Given the description of an element on the screen output the (x, y) to click on. 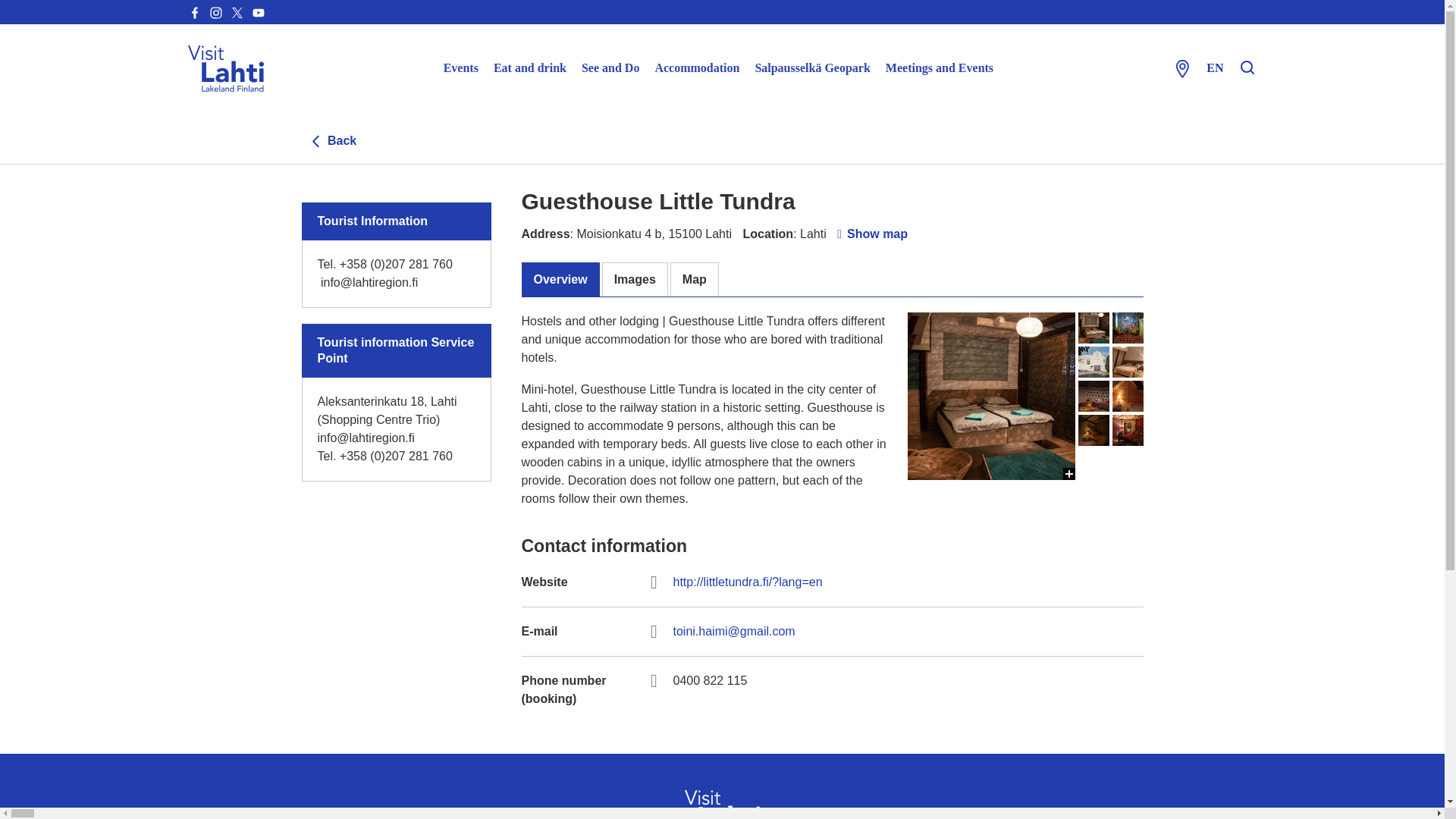
Guesthouse Little Tundra (990, 730)
Accommodation (696, 68)
Eat and drink (529, 68)
Guesthouse Little Tundra (1127, 327)
See and Do (609, 68)
Guesthouse Little Tundra (990, 563)
Guesthouse Little Tundra (990, 395)
Events (461, 68)
Guesthouse Little Tundra (990, 816)
Guesthouse Little Tundra (1093, 327)
Guesthouse Little Tundra (1093, 360)
Meetings and Events (938, 68)
